Given the description of an element on the screen output the (x, y) to click on. 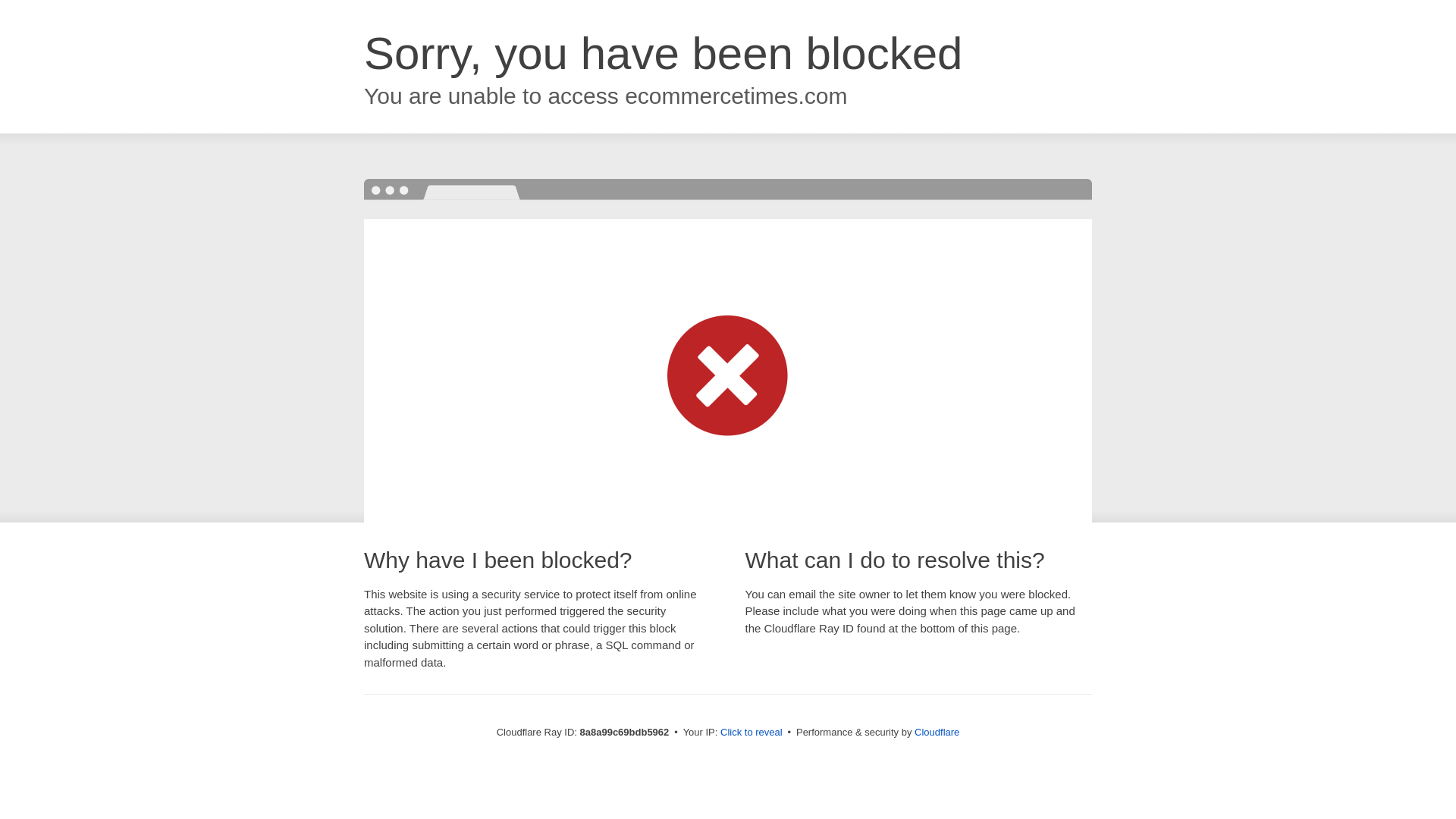
Click to reveal (751, 732)
Cloudflare (936, 731)
